Given the description of an element on the screen output the (x, y) to click on. 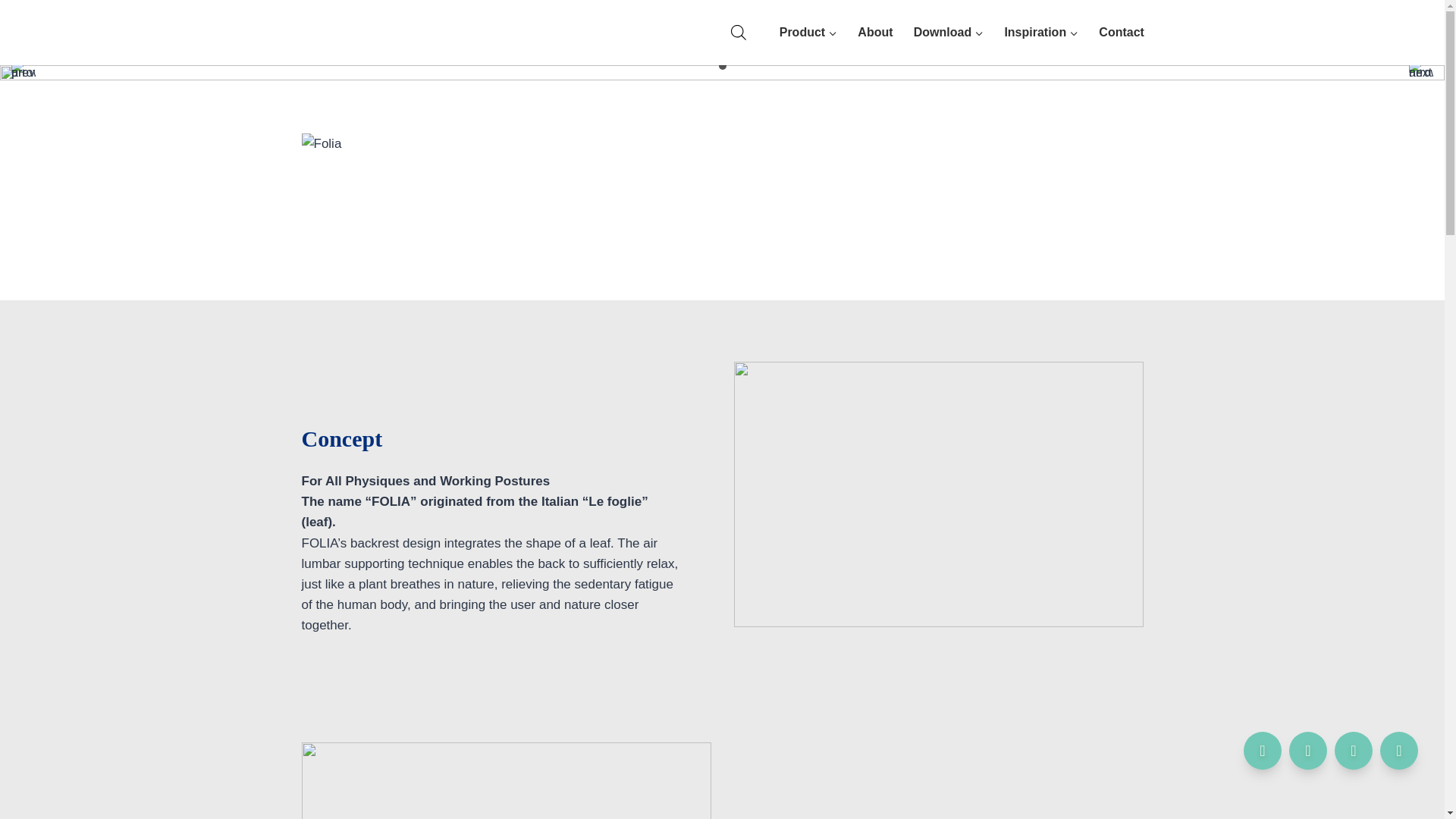
Download (948, 32)
Contact (1121, 32)
About (874, 32)
Product (807, 32)
Inspiration (1041, 32)
